Given the description of an element on the screen output the (x, y) to click on. 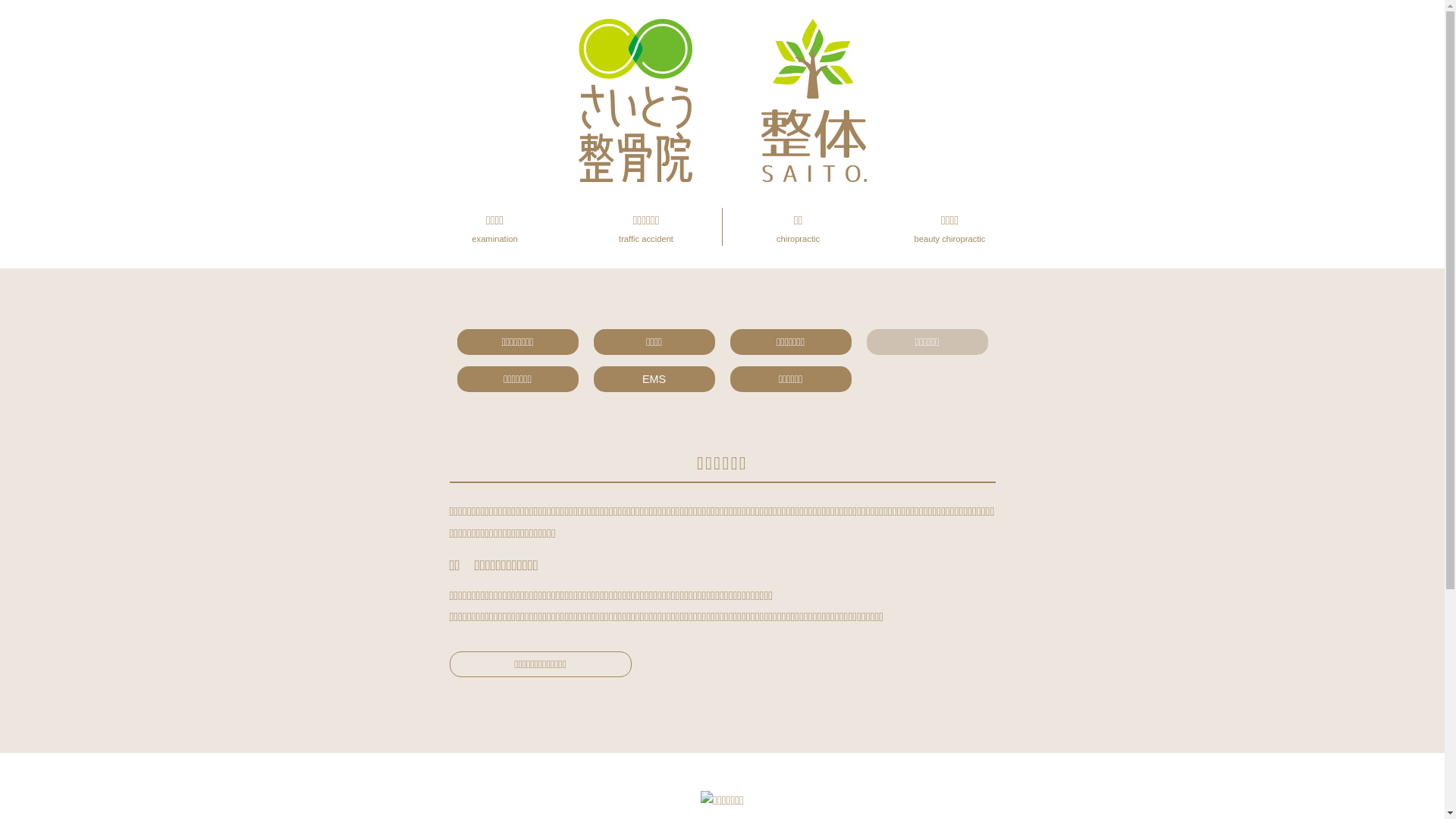
EMS Element type: text (653, 379)
